Given the description of an element on the screen output the (x, y) to click on. 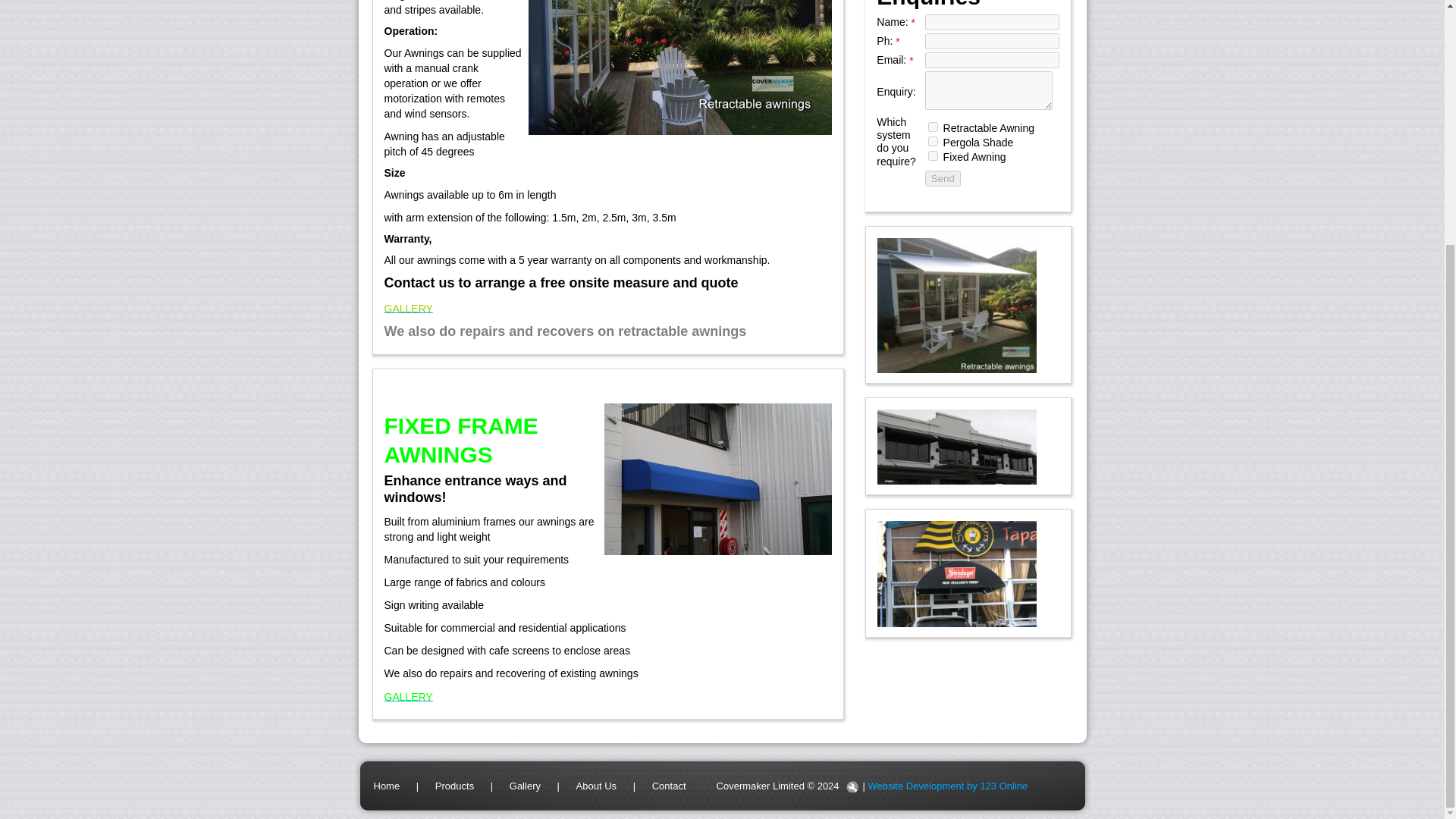
Fixed Awning (932, 155)
Awning Gallery (408, 695)
Retractable Awning (932, 126)
Pergola Shade (932, 141)
Send (942, 178)
Awning Gallery (408, 307)
